Given the description of an element on the screen output the (x, y) to click on. 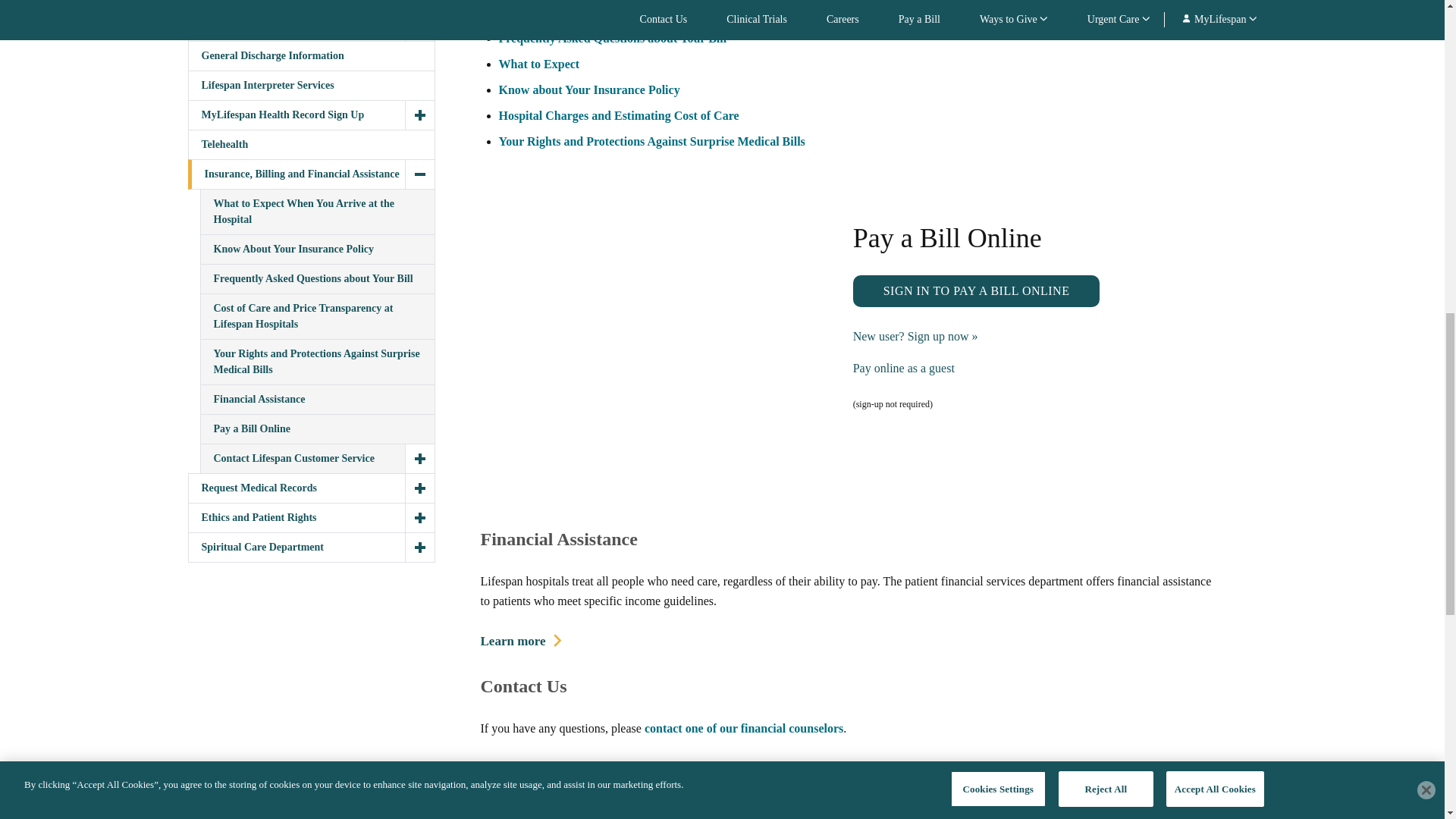
Your Rights and Protections Against Surprise Medical Bills (652, 141)
Frequently Asked Questions about Your Bill (612, 38)
Learn more about financial assistance (521, 641)
What to Expect When You Arrive at the Hospital (539, 63)
Cost of Care and Price Transparency at Lifespan Hospitals (619, 115)
Know About Your Insurance Policy (589, 89)
